Given the description of an element on the screen output the (x, y) to click on. 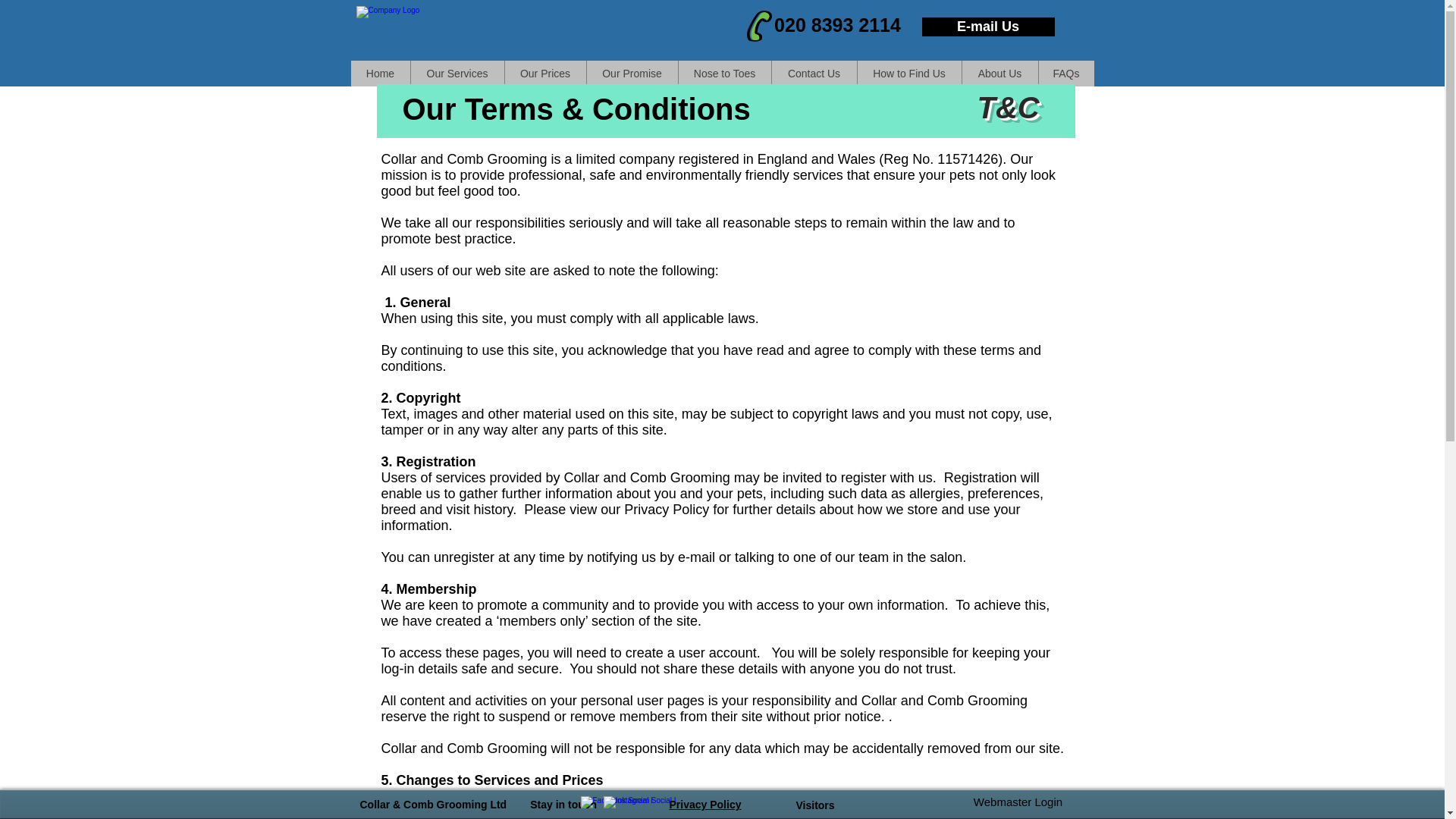
About Us (999, 73)
Our Prices (544, 73)
Webmaster Login (1018, 802)
Our Promise (631, 73)
Home (379, 73)
FAQs (1064, 73)
Contact Us (813, 73)
Our Services (456, 73)
How to Find Us (908, 73)
020 8393 2114 (837, 24)
